Given the description of an element on the screen output the (x, y) to click on. 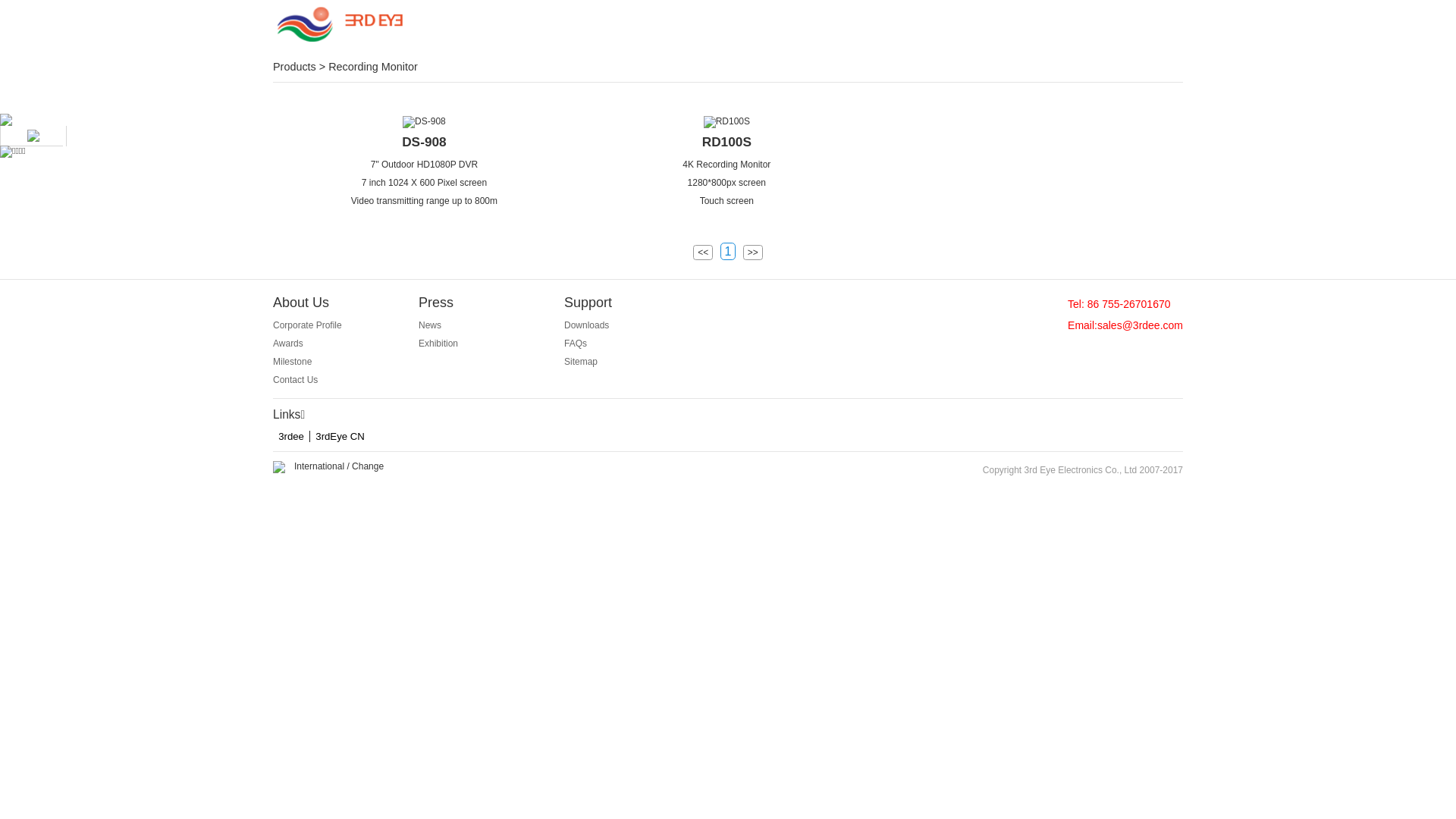
Service Element type: text (874, 27)
>> Element type: text (752, 252)
English Element type: text (1152, 27)
DS-908 Element type: hover (423, 122)
Downloads Element type: text (586, 325)
Exhibition Element type: text (438, 343)
Home Element type: text (514, 27)
International / Change Element type: text (338, 466)
3rdee Element type: text (291, 436)
3rdEye CN Element type: text (339, 436)
Milestone Element type: text (292, 361)
Products Element type: text (634, 27)
News Element type: text (429, 325)
About Us Element type: text (994, 27)
Corporate Profile Element type: text (307, 325)
Chinese Element type: text (1099, 27)
 /  Element type: text (1126, 27)
Awards Element type: text (288, 343)
FAQs Element type: text (575, 343)
<< Element type: text (702, 252)
RD100S Element type: text (727, 141)
Contact Us Element type: text (295, 379)
sales@3rdee.com Element type: text (1140, 325)
Sitemap Element type: text (580, 361)
RD100S Element type: hover (726, 122)
DS-908 Element type: text (424, 141)
Contact Element type: text (755, 27)
